Given the description of an element on the screen output the (x, y) to click on. 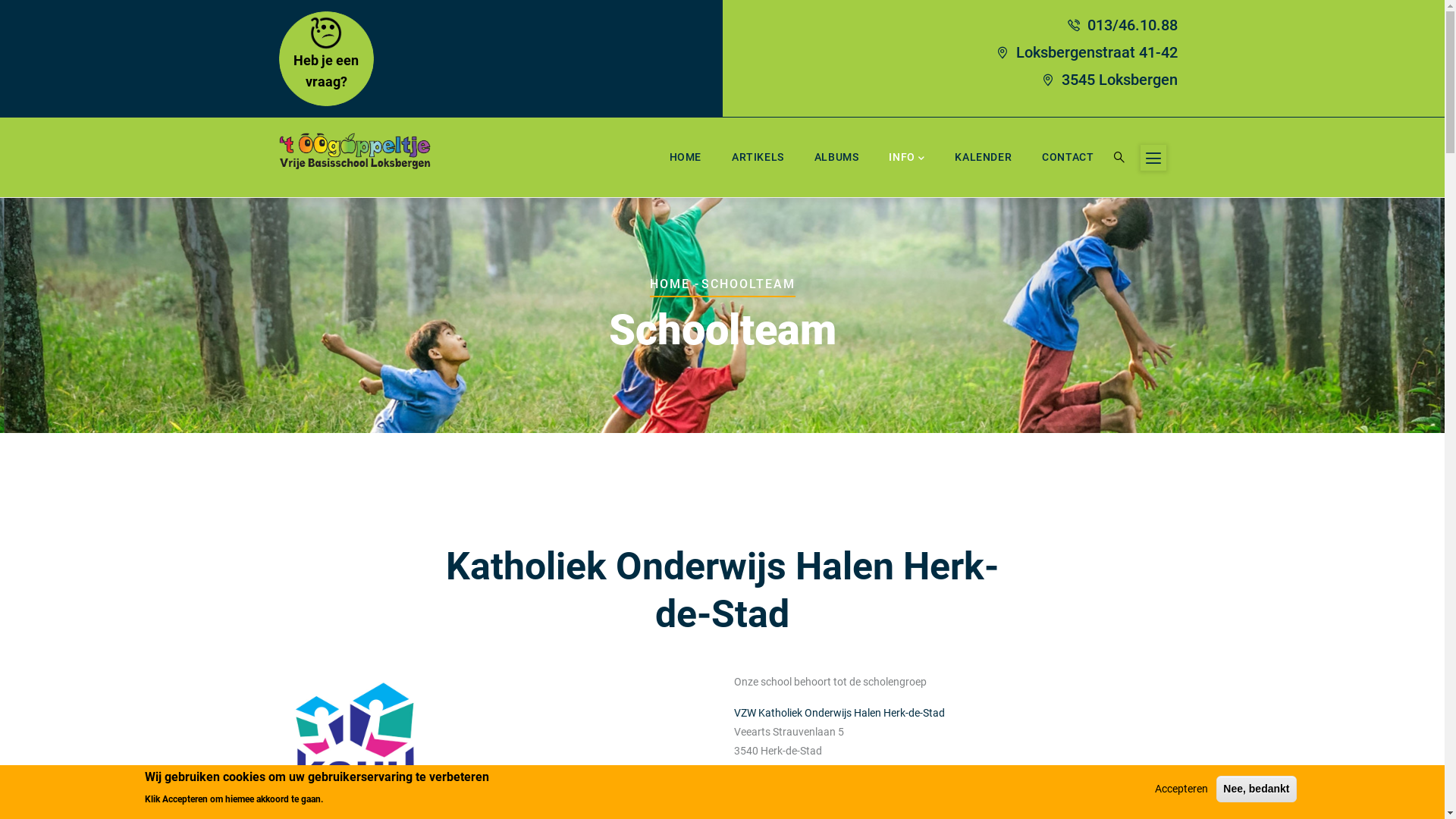
KALENDER Element type: text (982, 157)
INFO Element type: text (906, 157)
Heb je een vraag? Element type: text (325, 70)
HOME Element type: text (685, 157)
CONTACT Element type: text (1067, 157)
Accepteren Element type: text (1181, 788)
Home Element type: hover (354, 151)
ALBUMS Element type: text (836, 157)
HOME Element type: text (669, 283)
ARTIKELS Element type: text (757, 157)
Nee, bedankt Element type: text (1255, 788)
VZW Katholiek Onderwijs Halen Herk-de-Stad Element type: text (839, 712)
Overslaan en naar de inhoud gaan Element type: text (0, 0)
